Given the description of an element on the screen output the (x, y) to click on. 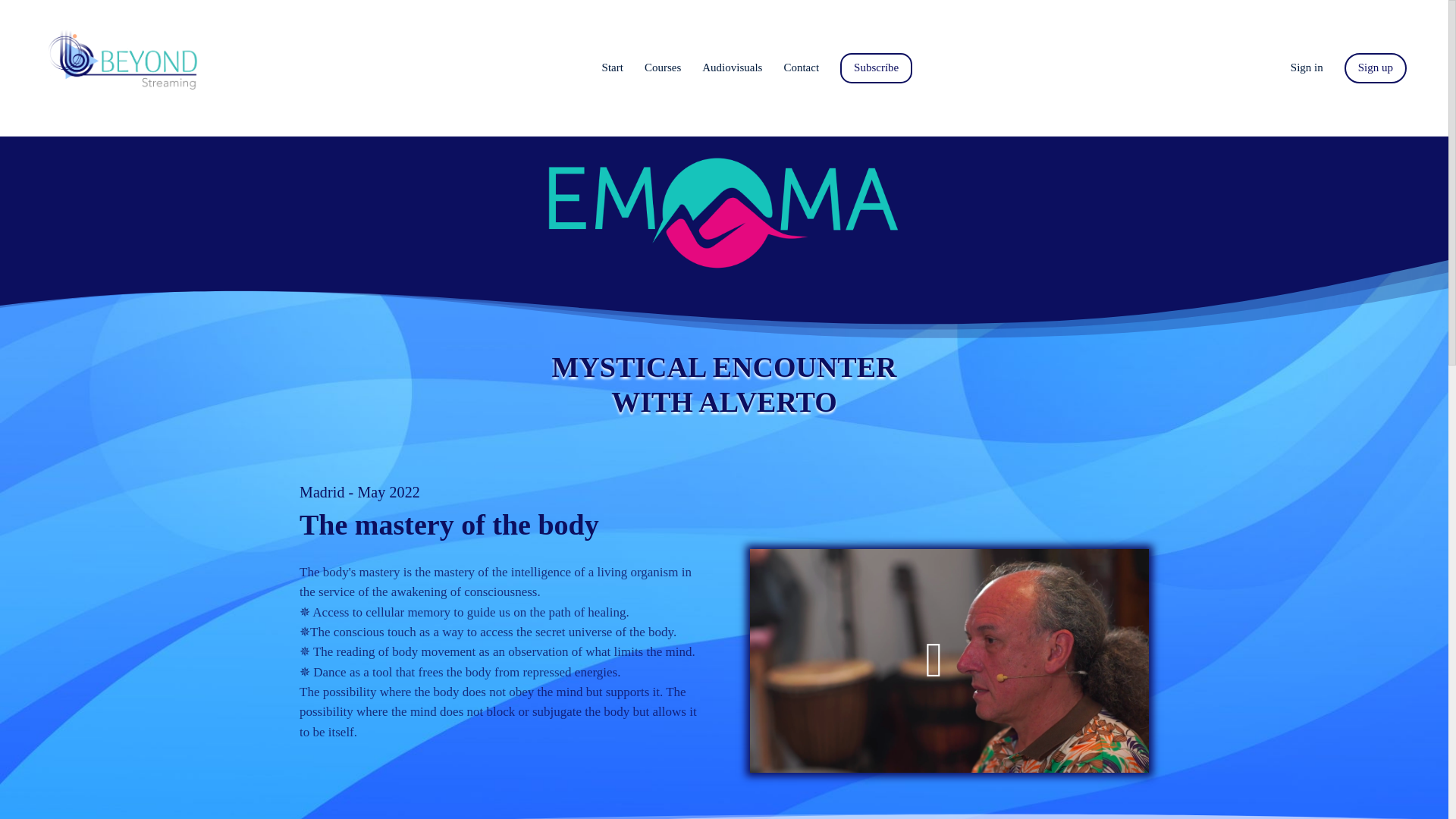
Contact (800, 67)
Audiovisuals (731, 67)
Courses (663, 67)
Sign in (1306, 67)
Start (612, 67)
Sign up (1374, 67)
